Given the description of an element on the screen output the (x, y) to click on. 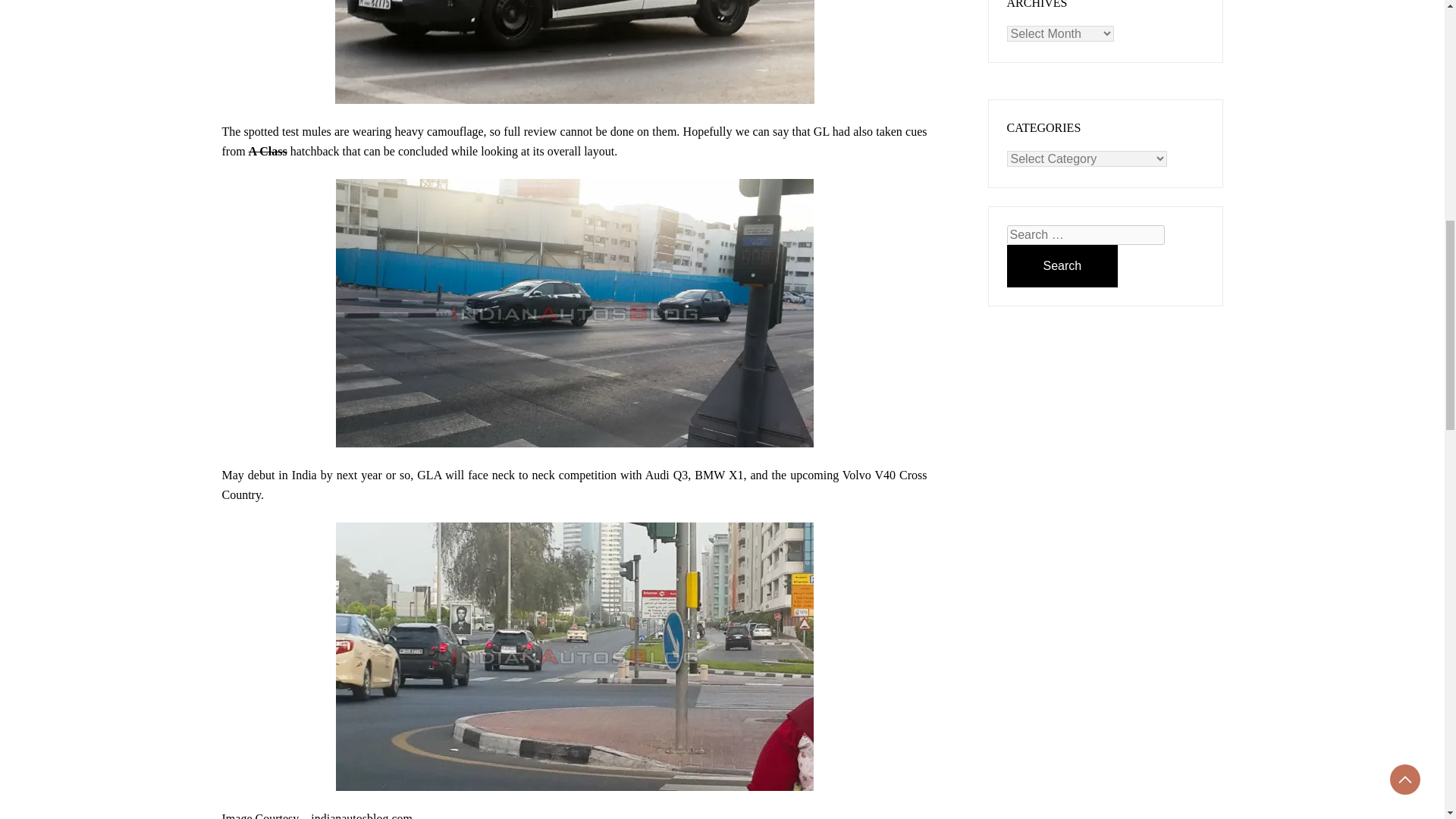
Search (1062, 265)
Mercedes manages to get over 400 bookings for A Class (267, 151)
Mercedes Benz GLA Class (573, 313)
A Class (267, 151)
indianautosblog.com (361, 815)
Mercedes Benz GLA Class Spotted Testing Back View (573, 656)
Mercedes Benz GLA Class Spotted Testing (573, 52)
Search (1062, 265)
